Given the description of an element on the screen output the (x, y) to click on. 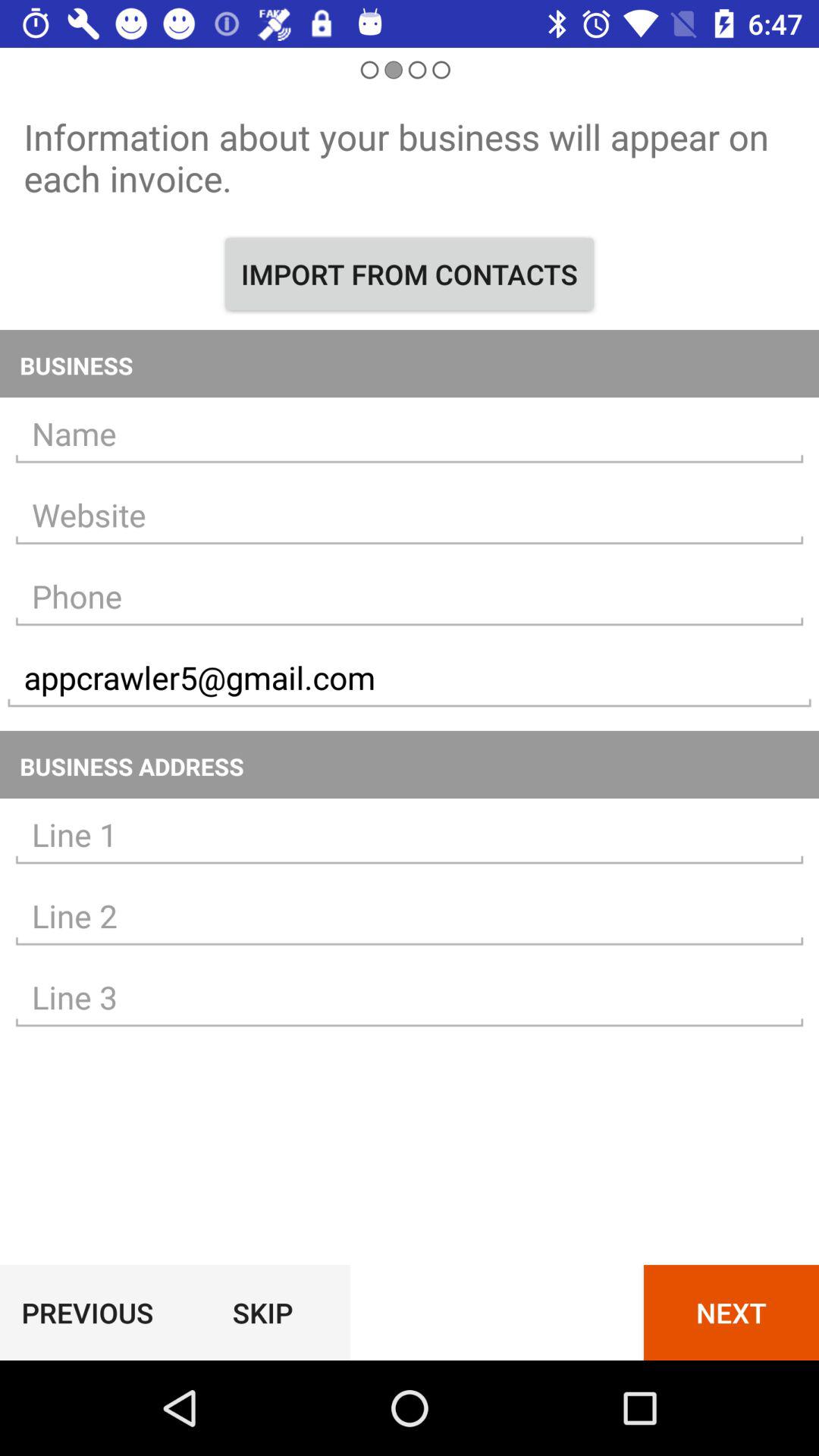
add address (409, 916)
